Given the description of an element on the screen output the (x, y) to click on. 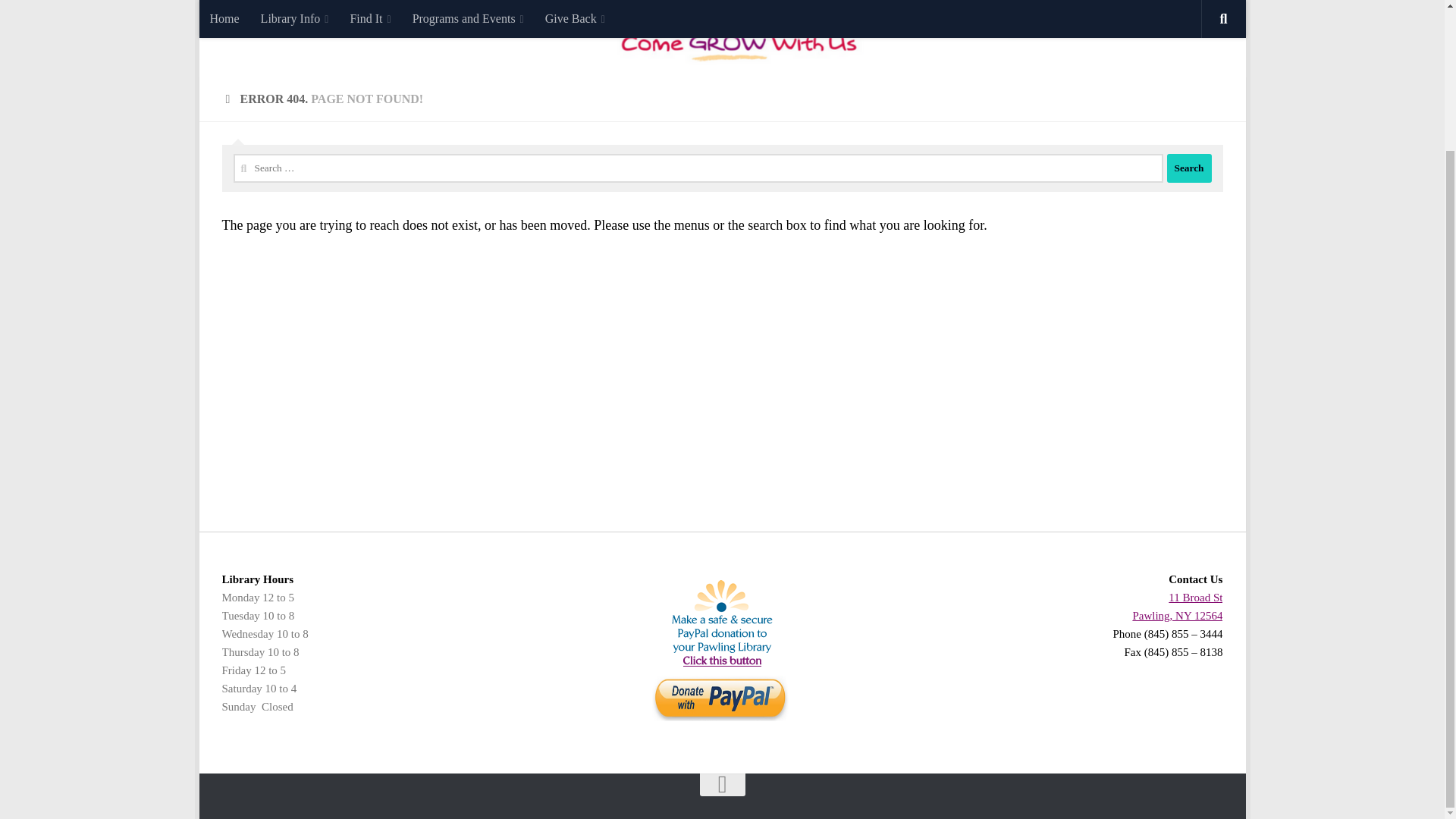
Search (1188, 167)
Search (1188, 167)
